Given the description of an element on the screen output the (x, y) to click on. 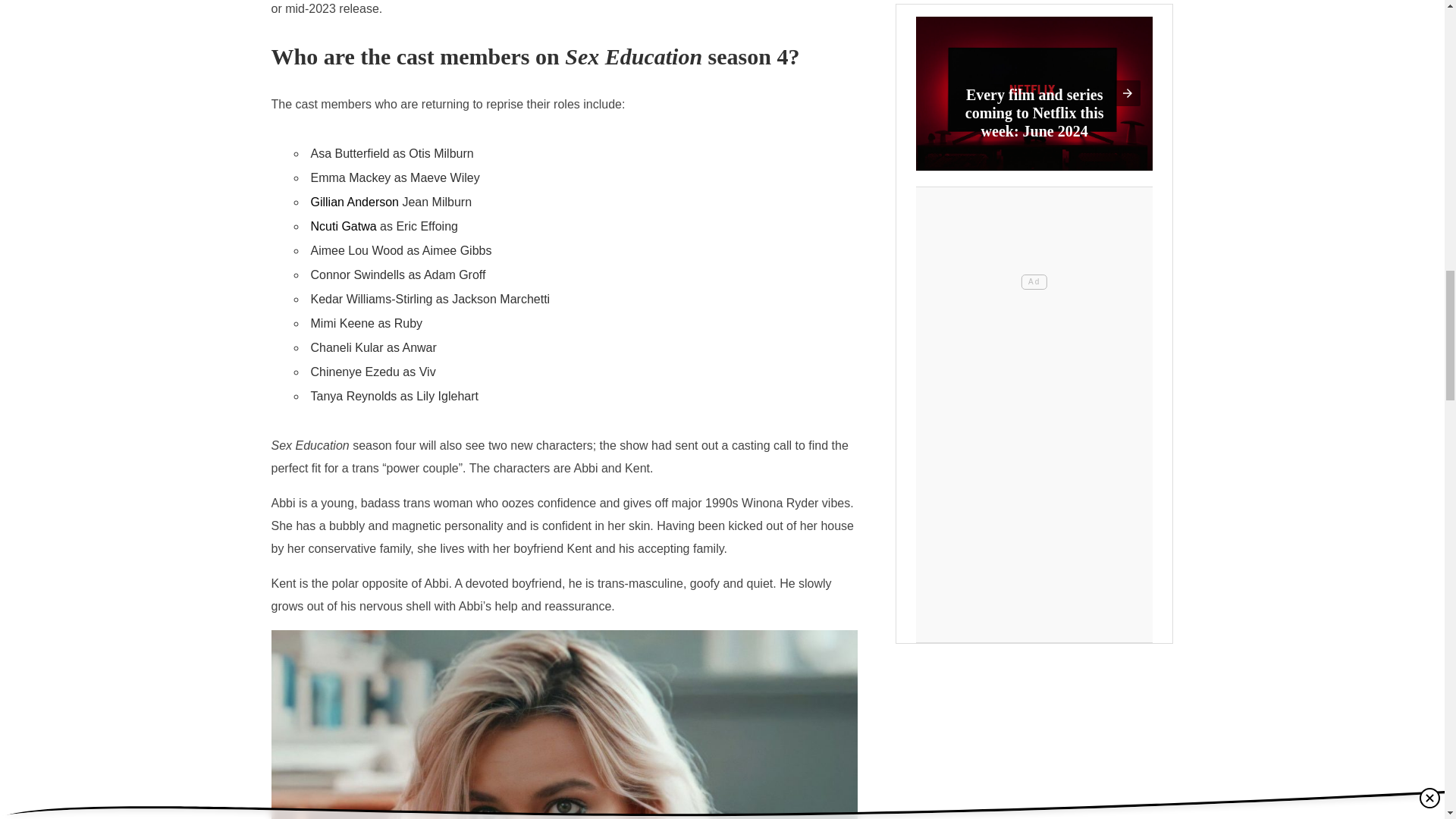
Ncuti Gatwa (344, 227)
Gillian Anderson (354, 202)
